Given the description of an element on the screen output the (x, y) to click on. 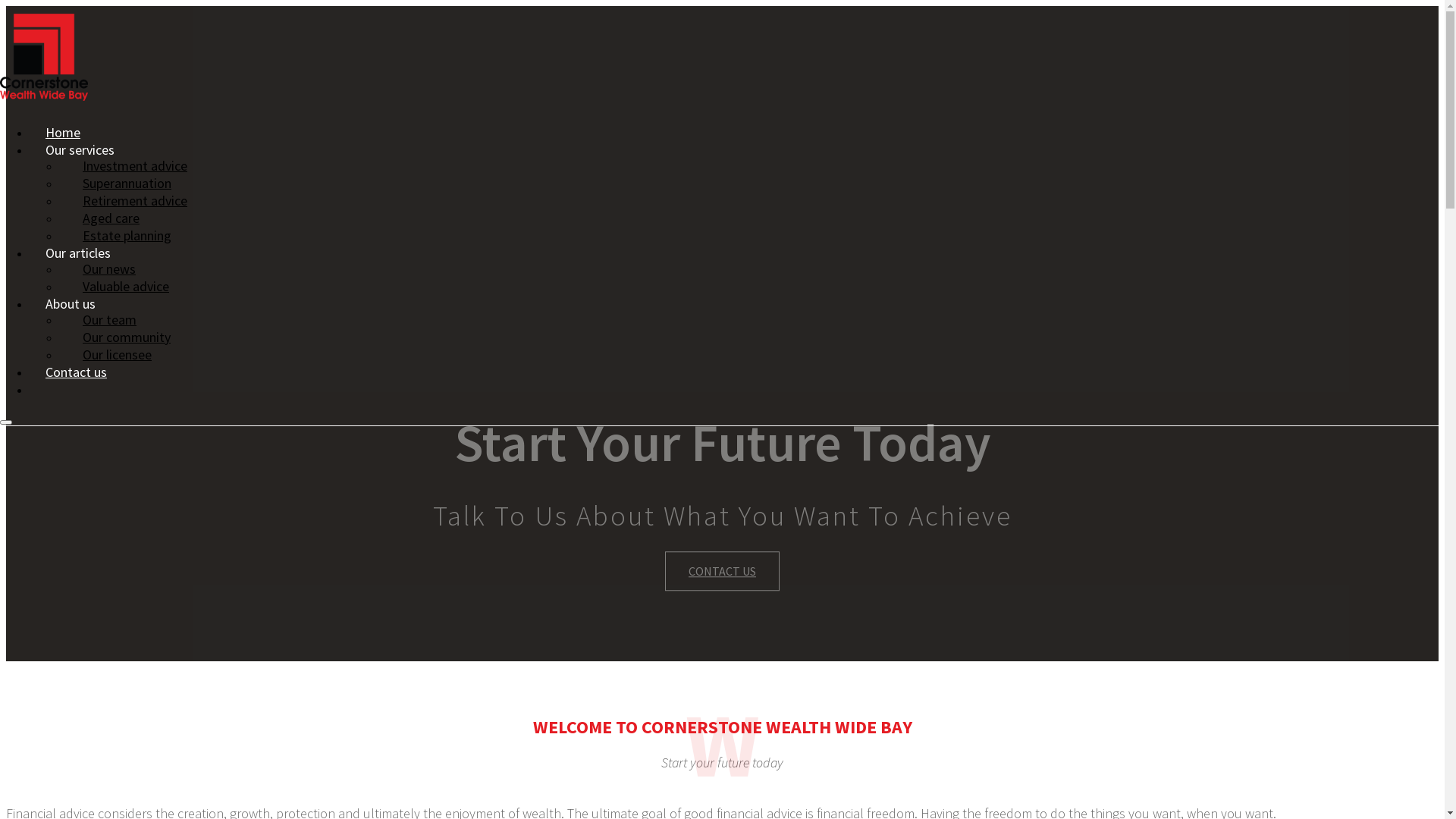
Valuable advice Element type: text (125, 285)
Our news Element type: text (108, 268)
Our services Element type: text (79, 149)
Retirement advice Element type: text (134, 200)
Aged care Element type: text (110, 217)
Our articles Element type: text (77, 252)
About us Element type: text (70, 303)
Estate planning Element type: text (126, 235)
Investment advice Element type: text (134, 165)
Contact us Element type: text (76, 371)
Our licensee Element type: text (116, 354)
CONTACT US Element type: text (722, 570)
Superannuation Element type: text (126, 182)
Home Element type: text (62, 132)
Our community Element type: text (126, 336)
Our team Element type: text (109, 319)
